Given the description of an element on the screen output the (x, y) to click on. 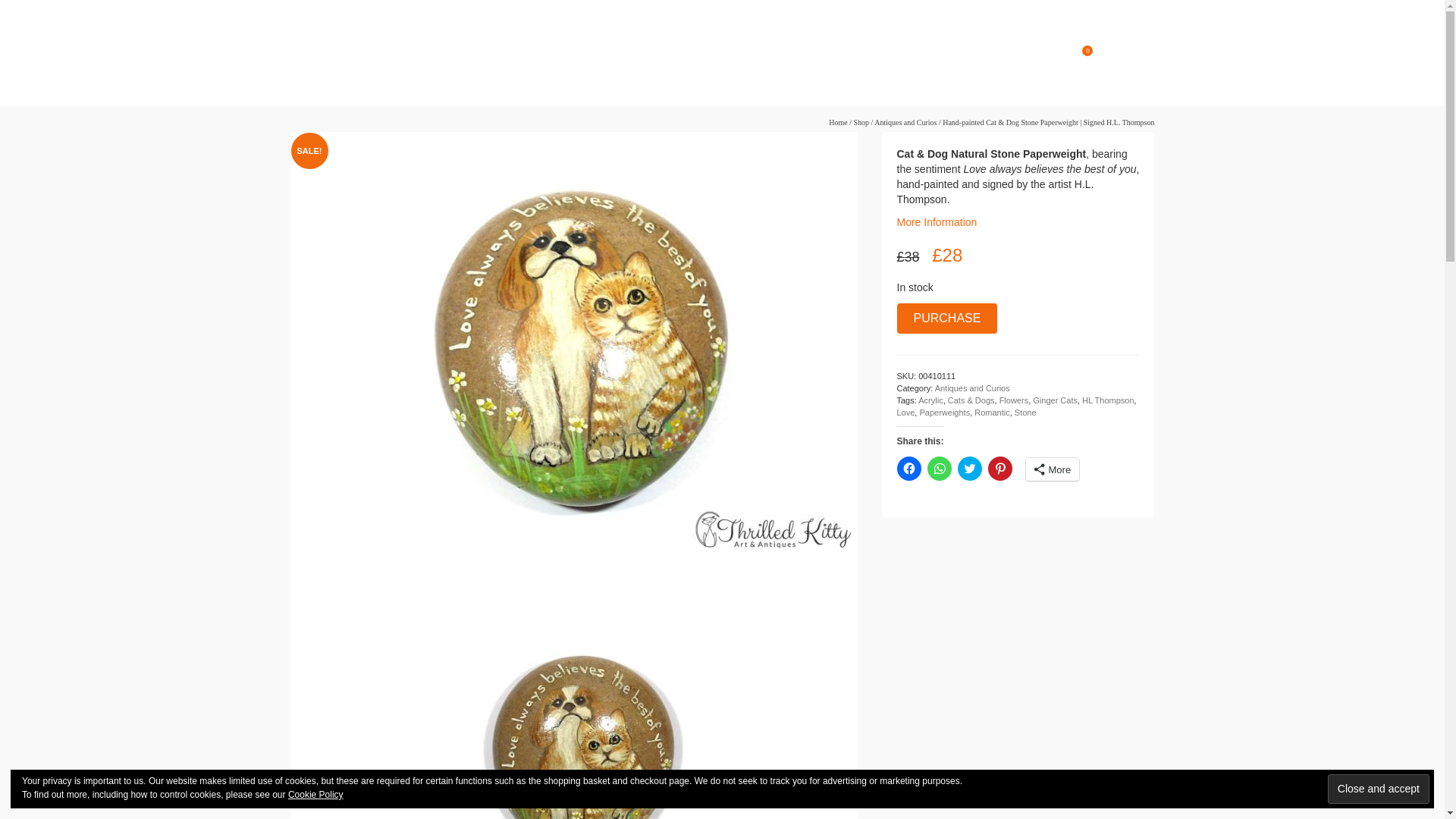
Click to share on Twitter (968, 468)
Close and accept (1378, 788)
Click to share on WhatsApp (938, 468)
Click to share on Facebook (908, 468)
Click to share on Pinterest (999, 468)
